Given the description of an element on the screen output the (x, y) to click on. 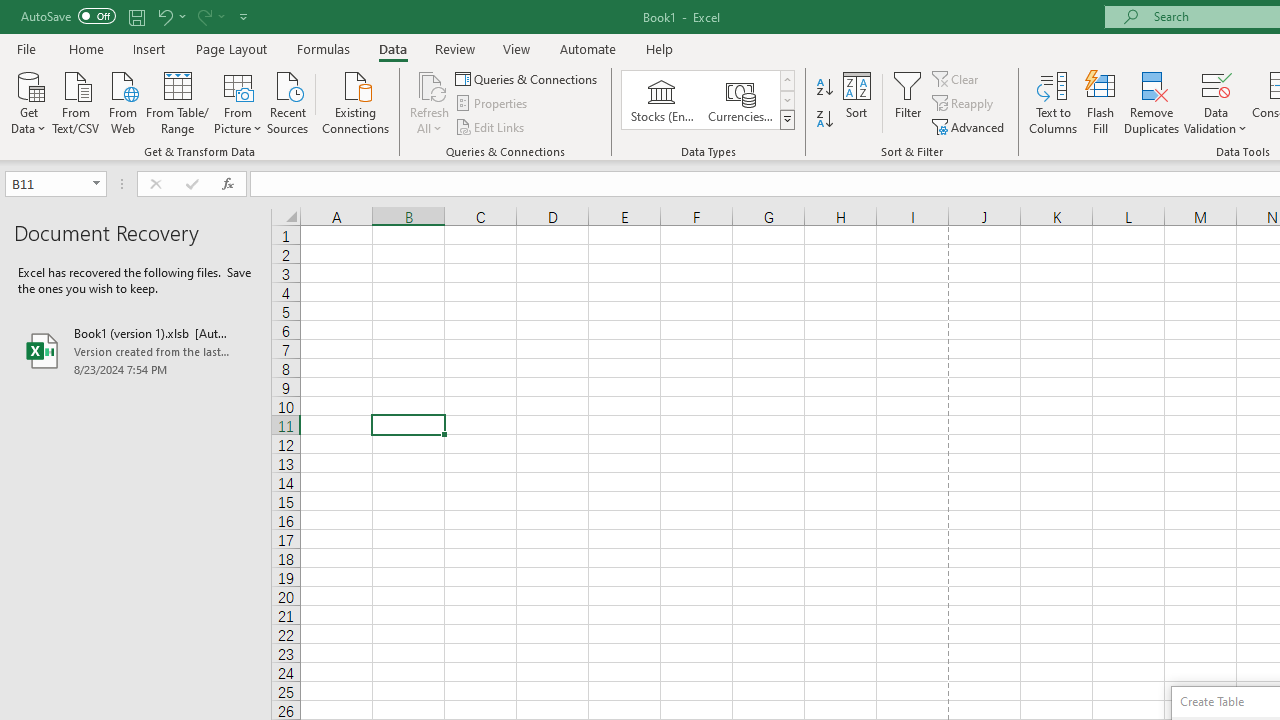
Advanced... (970, 126)
Insert (149, 48)
Data Validation... (1215, 84)
Refresh All (429, 84)
Get Data (28, 101)
Undo (170, 15)
Sort Z to A (824, 119)
Formulas (323, 48)
Clear (957, 78)
Reapply (964, 103)
Home (86, 48)
Data Types (786, 120)
View (517, 48)
Redo (209, 15)
Text to Columns... (1053, 102)
